Given the description of an element on the screen output the (x, y) to click on. 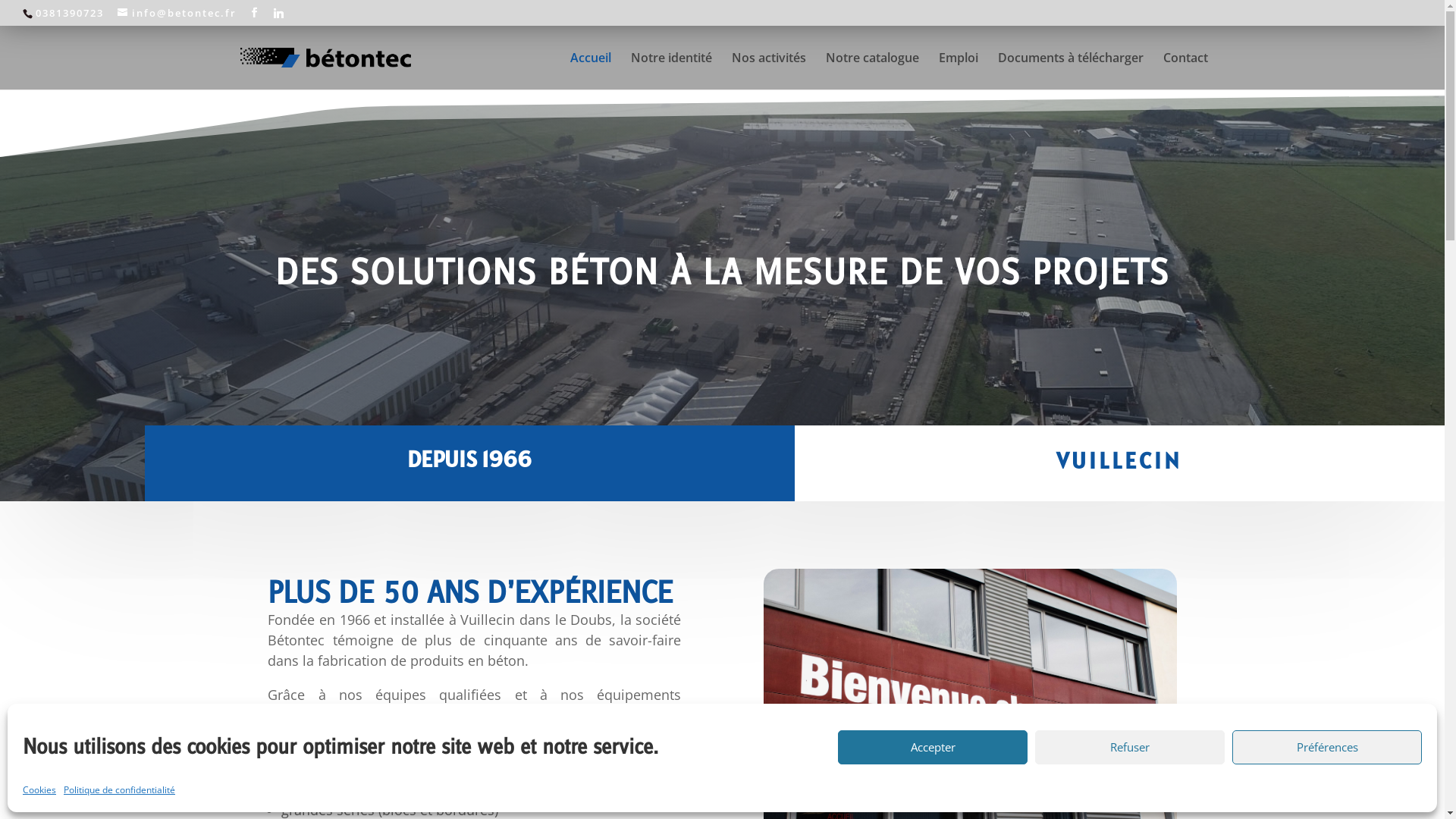
Contact Element type: text (1185, 69)
Notre catalogue Element type: text (871, 69)
Cookies Element type: text (39, 789)
info@betontec.fr Element type: text (176, 12)
Emploi Element type: text (958, 69)
0381390723 Element type: text (69, 12)
Refuser Element type: text (1129, 747)
Accepter Element type: text (932, 747)
Accueil Element type: text (590, 69)
